Given the description of an element on the screen output the (x, y) to click on. 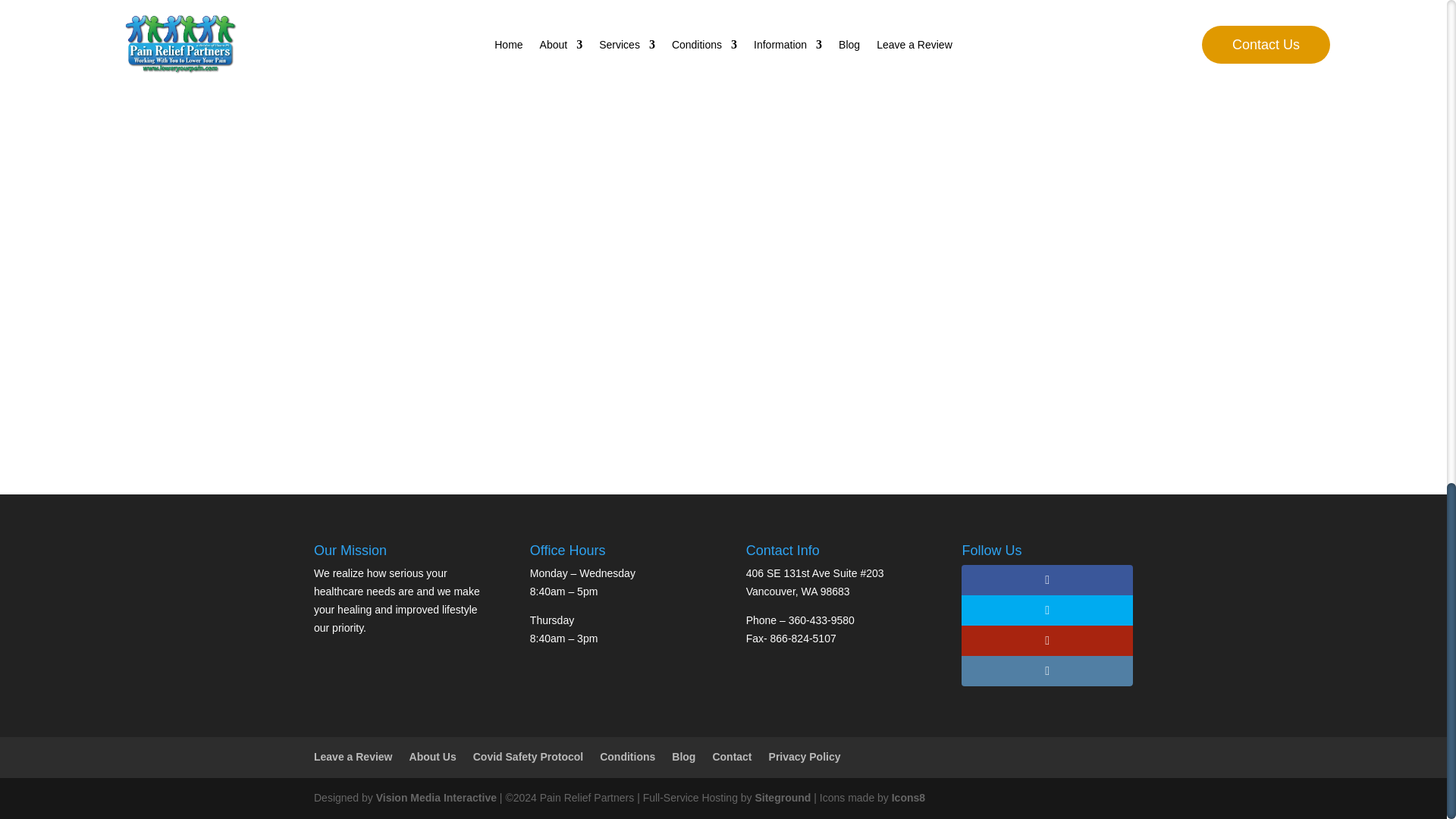
Icons8 (907, 797)
